Given the description of an element on the screen output the (x, y) to click on. 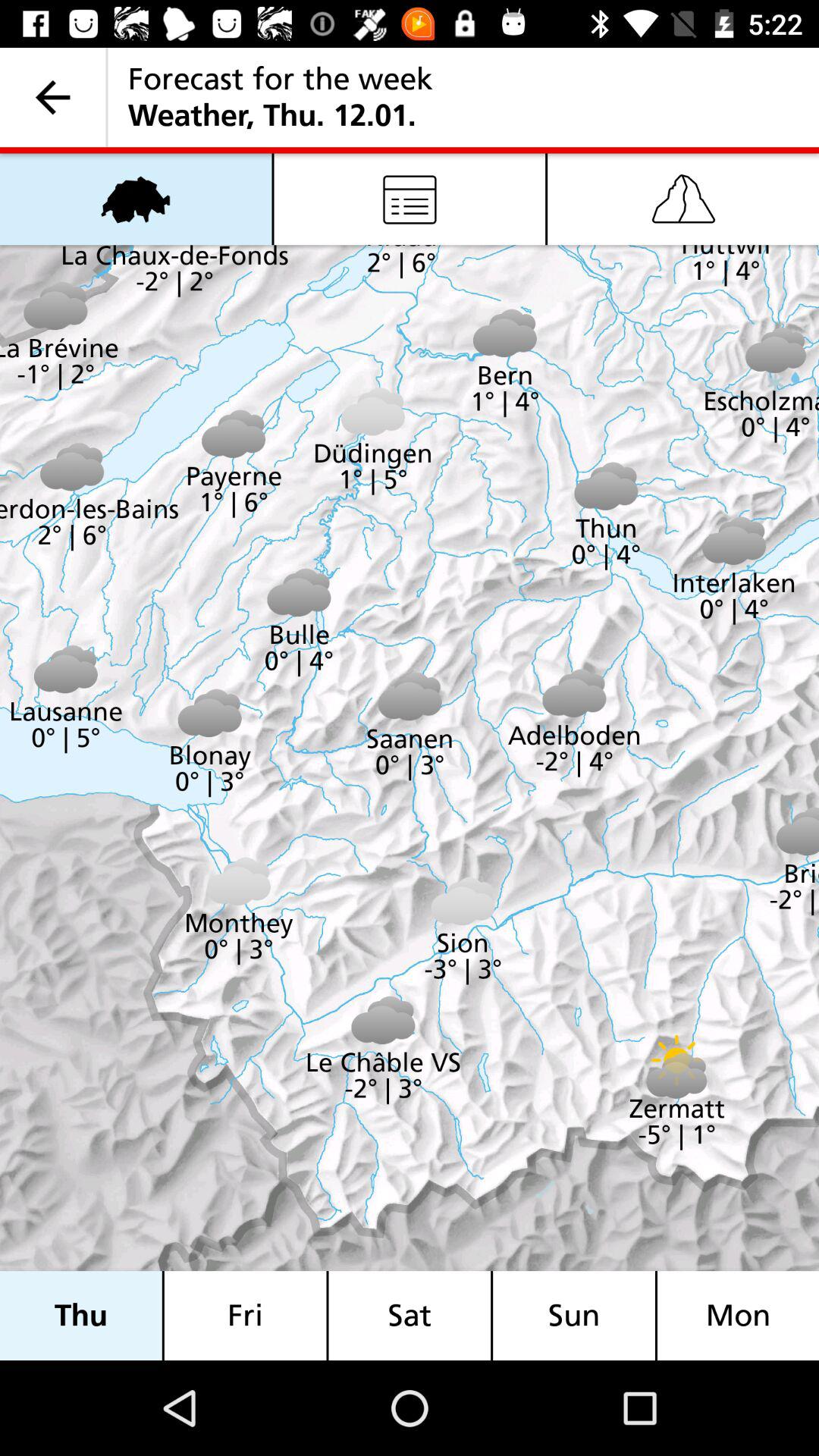
click mon item (738, 1315)
